Given the description of an element on the screen output the (x, y) to click on. 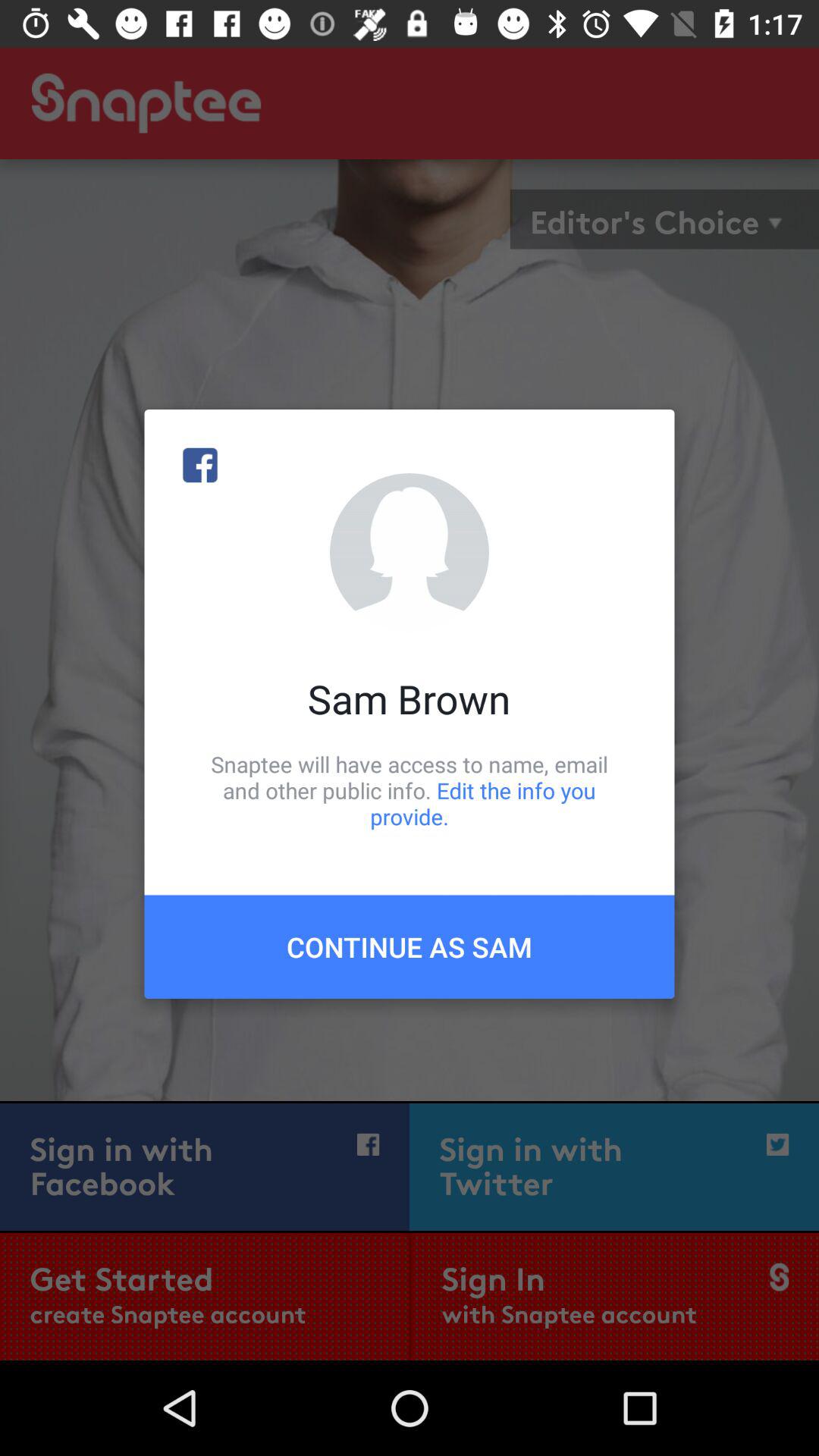
select the snaptee will have icon (409, 790)
